Given the description of an element on the screen output the (x, y) to click on. 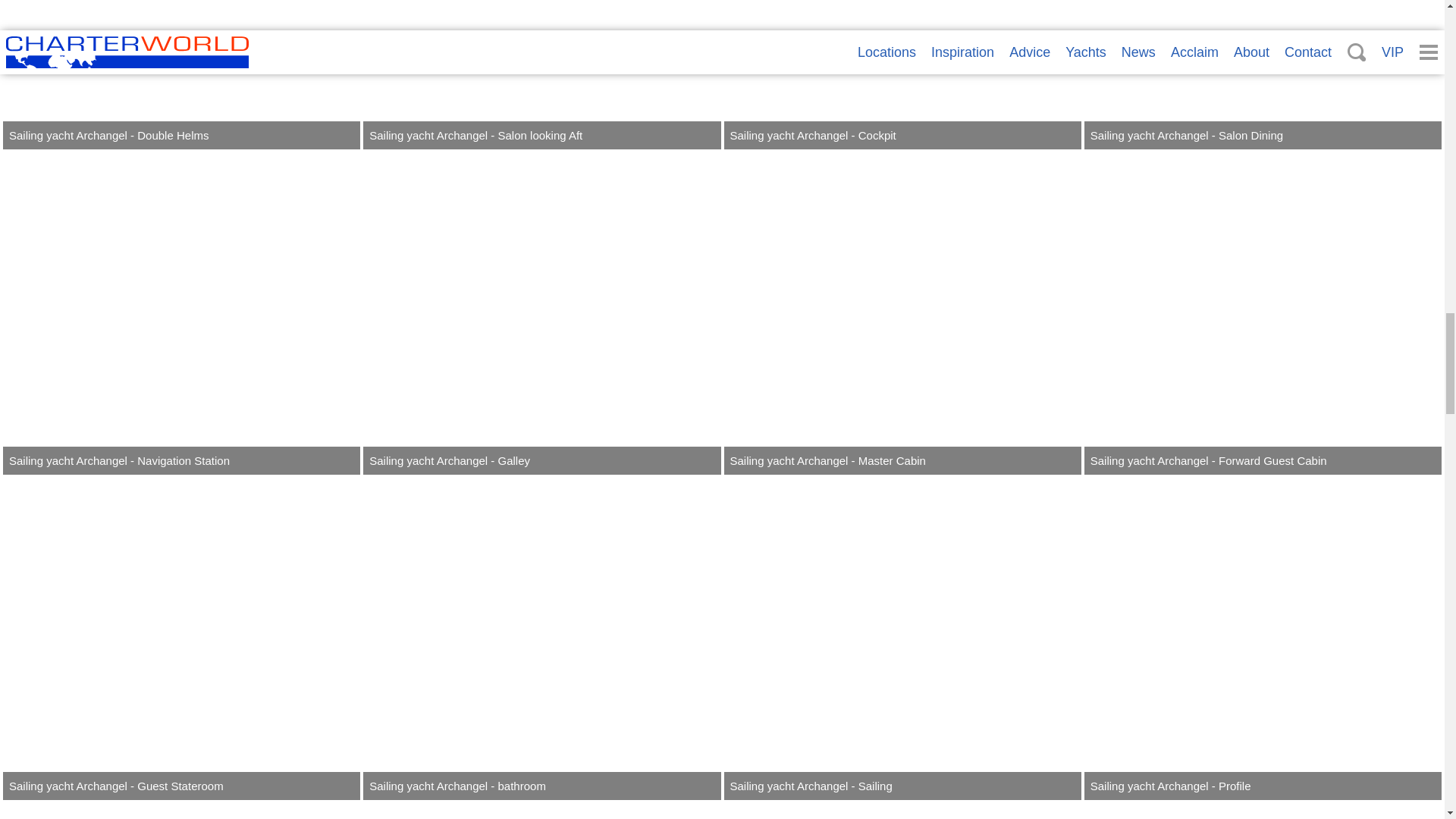
Sailing yacht Archangel -  Forward Guest Cabin (1262, 313)
Sailing yacht Archangel -  Profile (1262, 638)
Sailing yacht Archangel -  Cockpit (901, 74)
Sailing yacht Archangel -  Master Cabin (901, 313)
Sailing yacht Archangel -  Sailing (901, 638)
Sailing yacht Archangel -  Salon looking Aft (541, 74)
Sailing yacht Archangel -  Guest Stateroom (180, 638)
Sailing yacht Archangel -  Galley (541, 313)
Sailing yacht Archangel -  Navigation Station (180, 313)
Sailing yacht Archangel -  Salon Dining (1262, 74)
Sailing yacht Archangel -  Double Helms (180, 74)
Sailing yacht Archangel -  bathroom (541, 638)
Sailing yacht Archangel -  Cruising (180, 811)
